Given the description of an element on the screen output the (x, y) to click on. 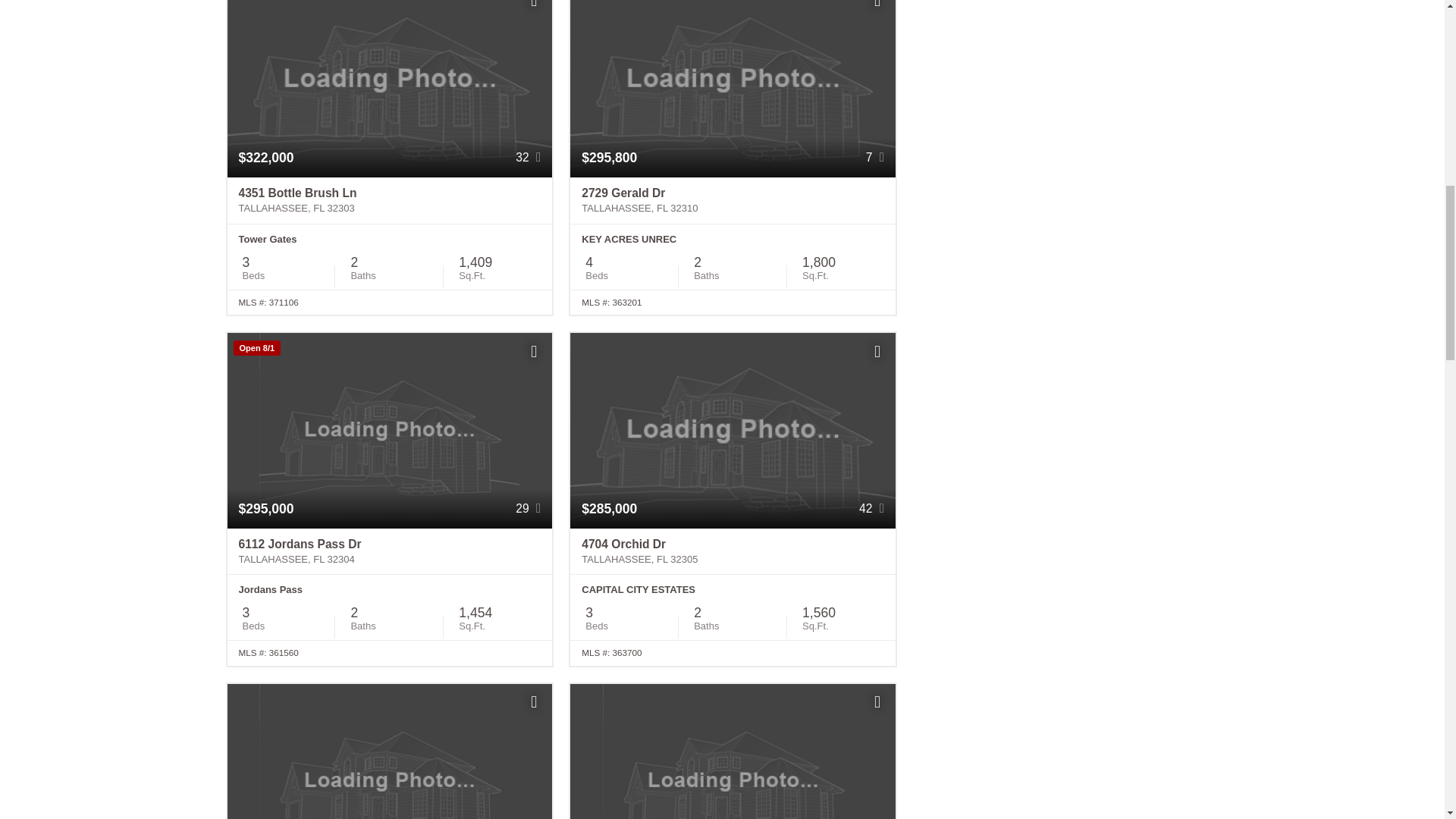
6112 Jordans Pass Dr Tallahassee,  FL 32304 (390, 551)
4351 Bottle Brush Ln Tallahassee,  FL 32303 (390, 200)
2729 Gerald Dr Tallahassee,  FL 32310 (732, 200)
4704 Orchid Dr Tallahassee,  FL 32305 (732, 551)
